Given the description of an element on the screen output the (x, y) to click on. 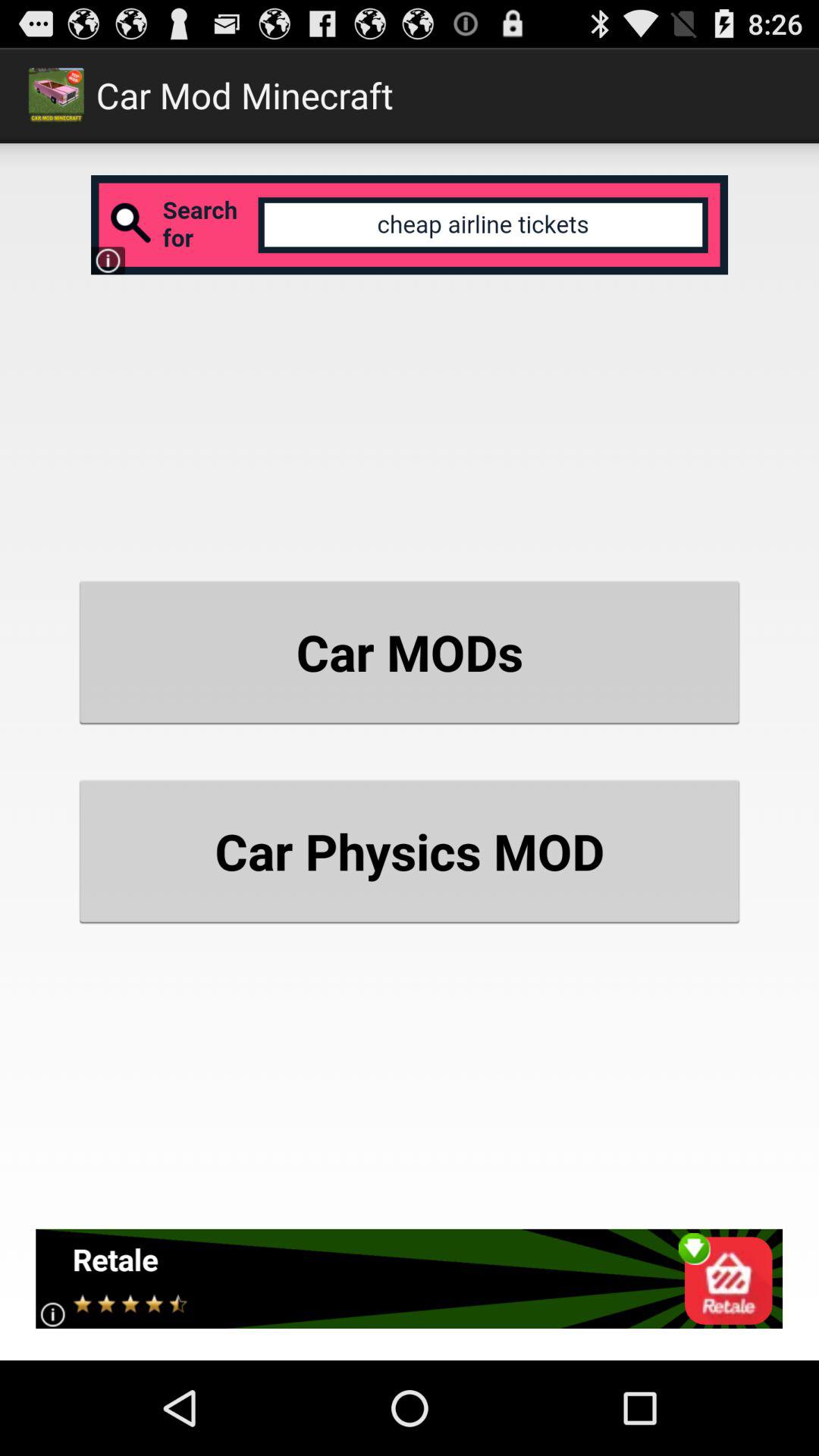
opens retale advertisement (408, 1278)
